Given the description of an element on the screen output the (x, y) to click on. 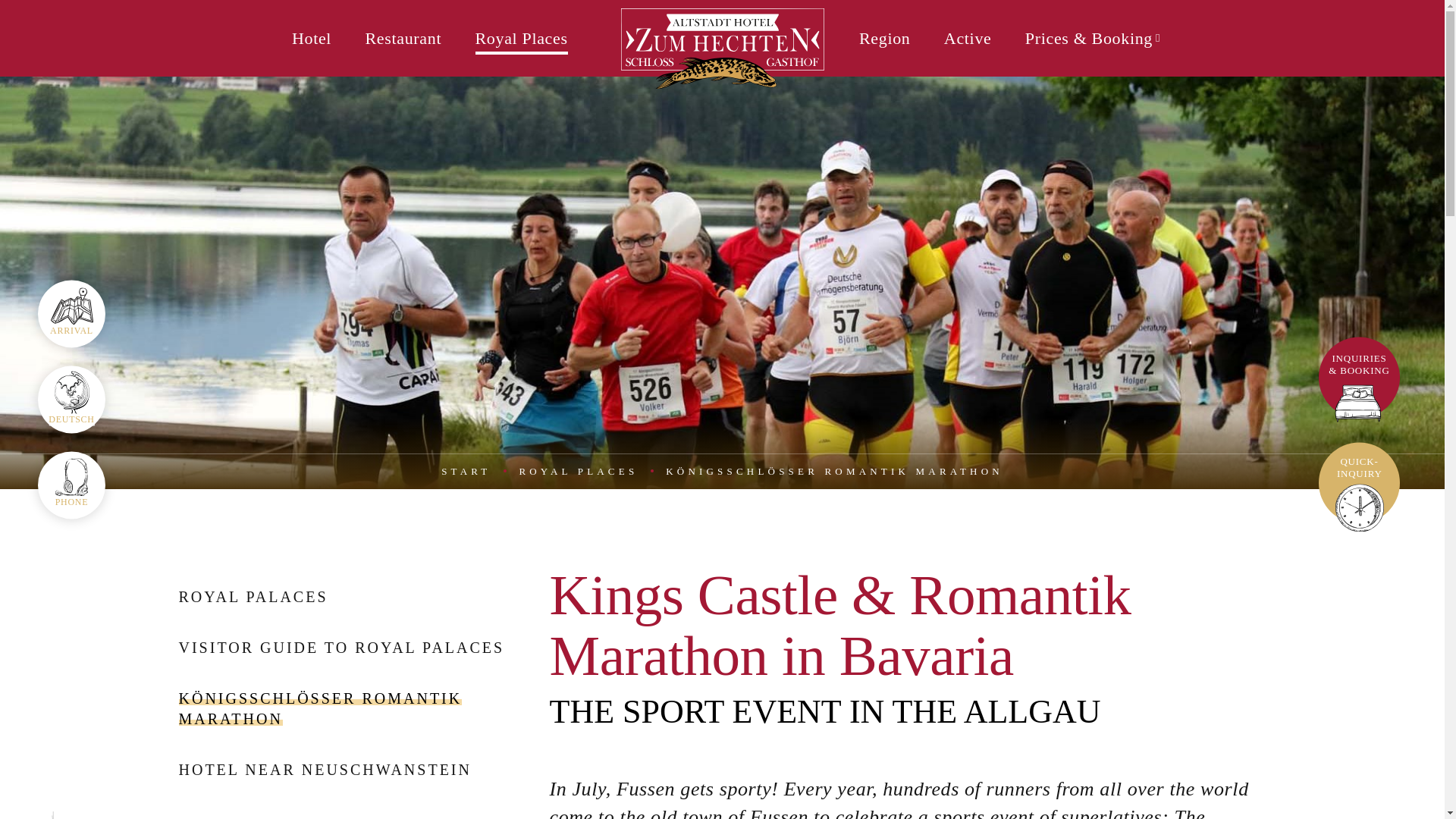
PHONE (70, 484)
ARRIVAL (70, 313)
START (465, 471)
DEUTSCH (70, 399)
VISITOR GUIDE TO ROYAL PALACES (342, 647)
ROYAL PALACES (254, 596)
HOTEL NEAR NEUSCHWANSTEIN (325, 769)
ROYAL PLACES (577, 471)
